Given the description of an element on the screen output the (x, y) to click on. 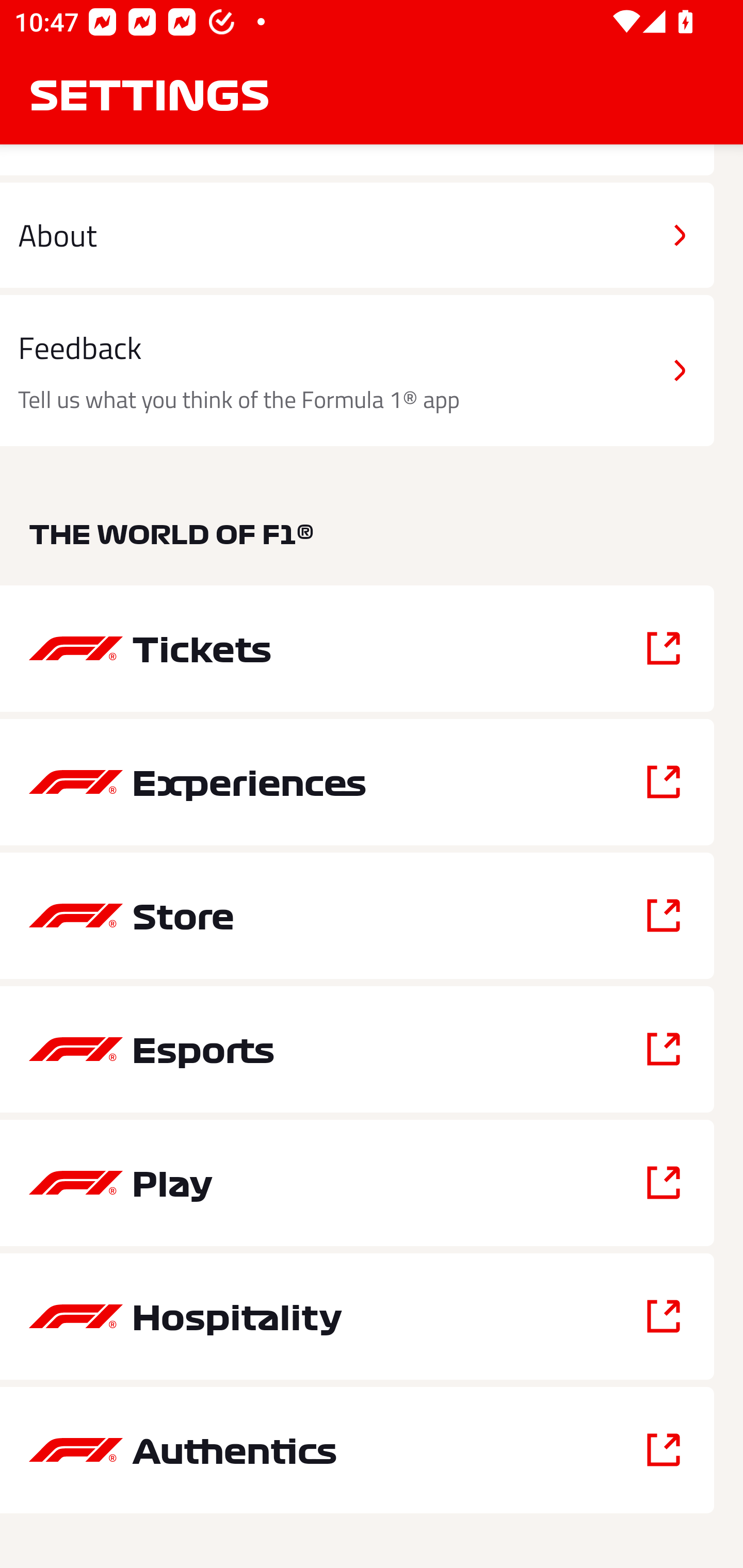
About (357, 234)
Tickets (357, 647)
Experiences (357, 782)
Store (357, 915)
Esports (357, 1049)
Play (357, 1182)
Hospitality (357, 1315)
Authentics (357, 1450)
